Given the description of an element on the screen output the (x, y) to click on. 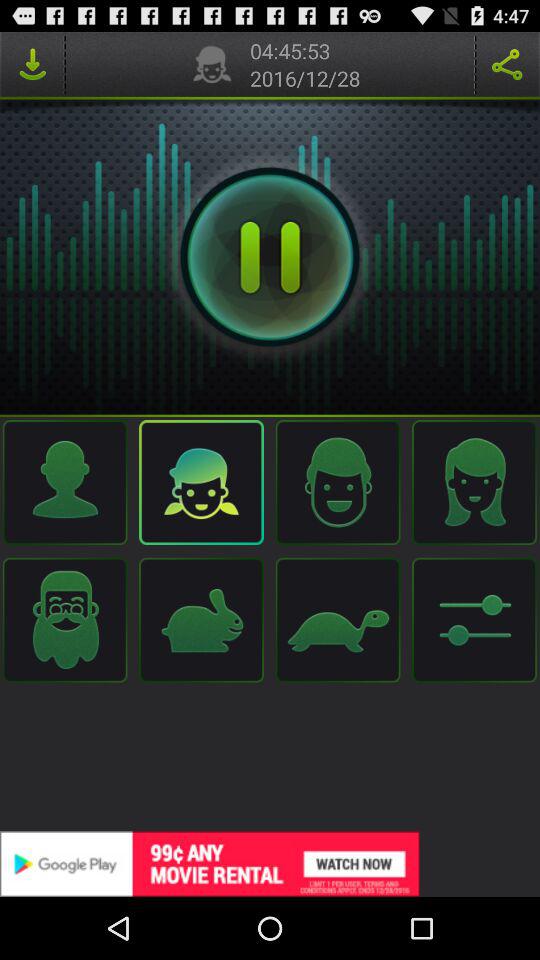
pause (270, 257)
